Given the description of an element on the screen output the (x, y) to click on. 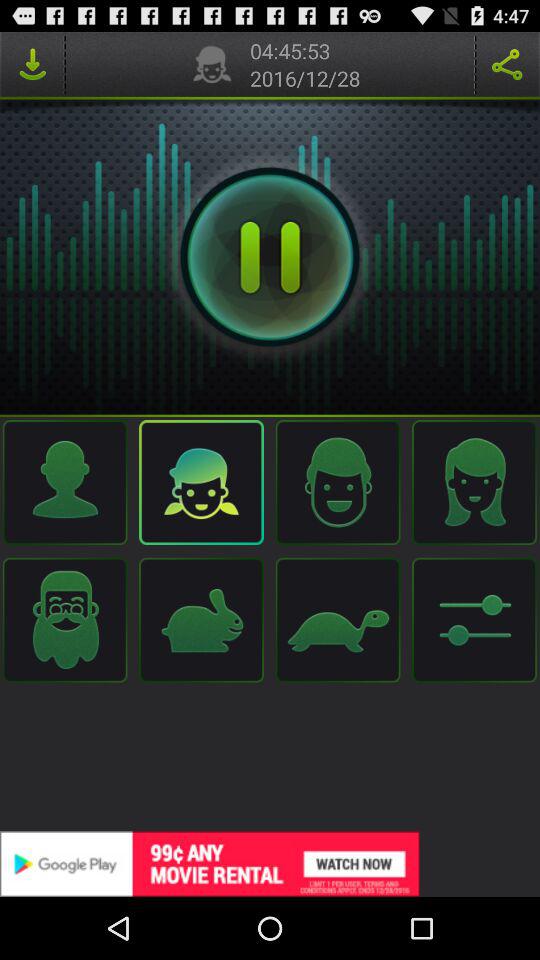
pause (270, 257)
